Given the description of an element on the screen output the (x, y) to click on. 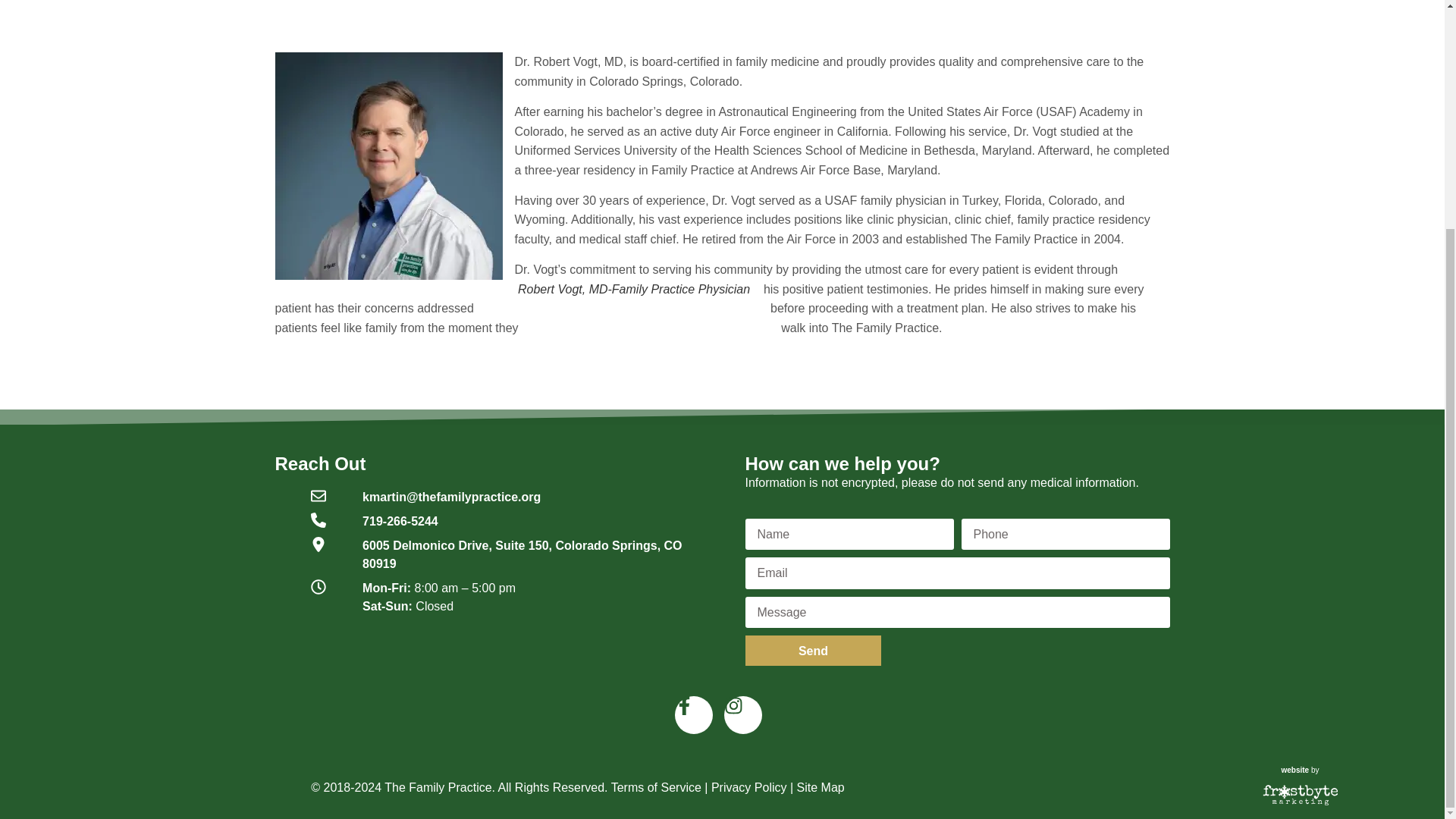
Robert Vogt MD (388, 166)
